Given the description of an element on the screen output the (x, y) to click on. 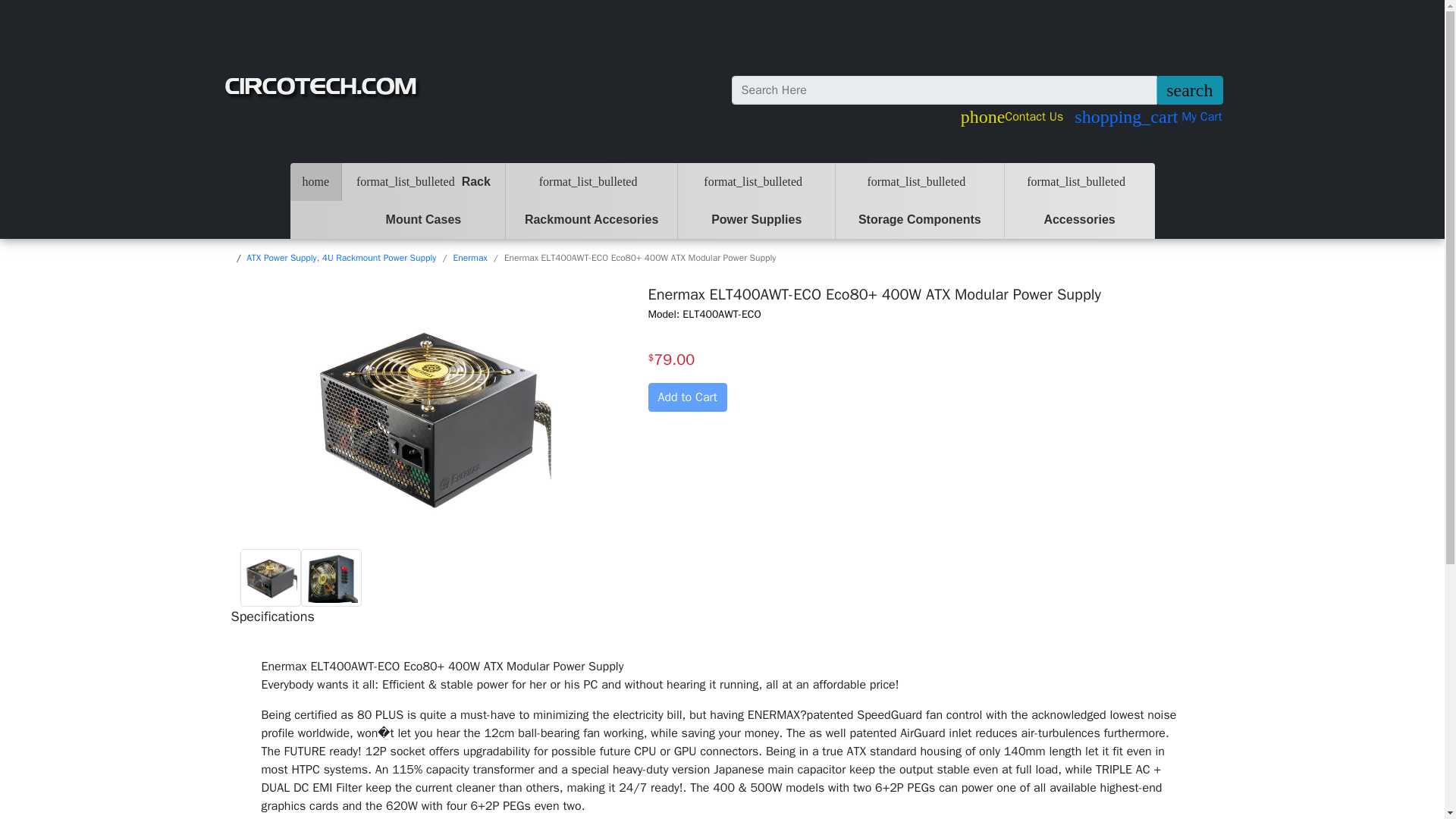
phoneContact Us (1017, 116)
search (1189, 90)
Circotech.com (321, 88)
home (315, 181)
